Given the description of an element on the screen output the (x, y) to click on. 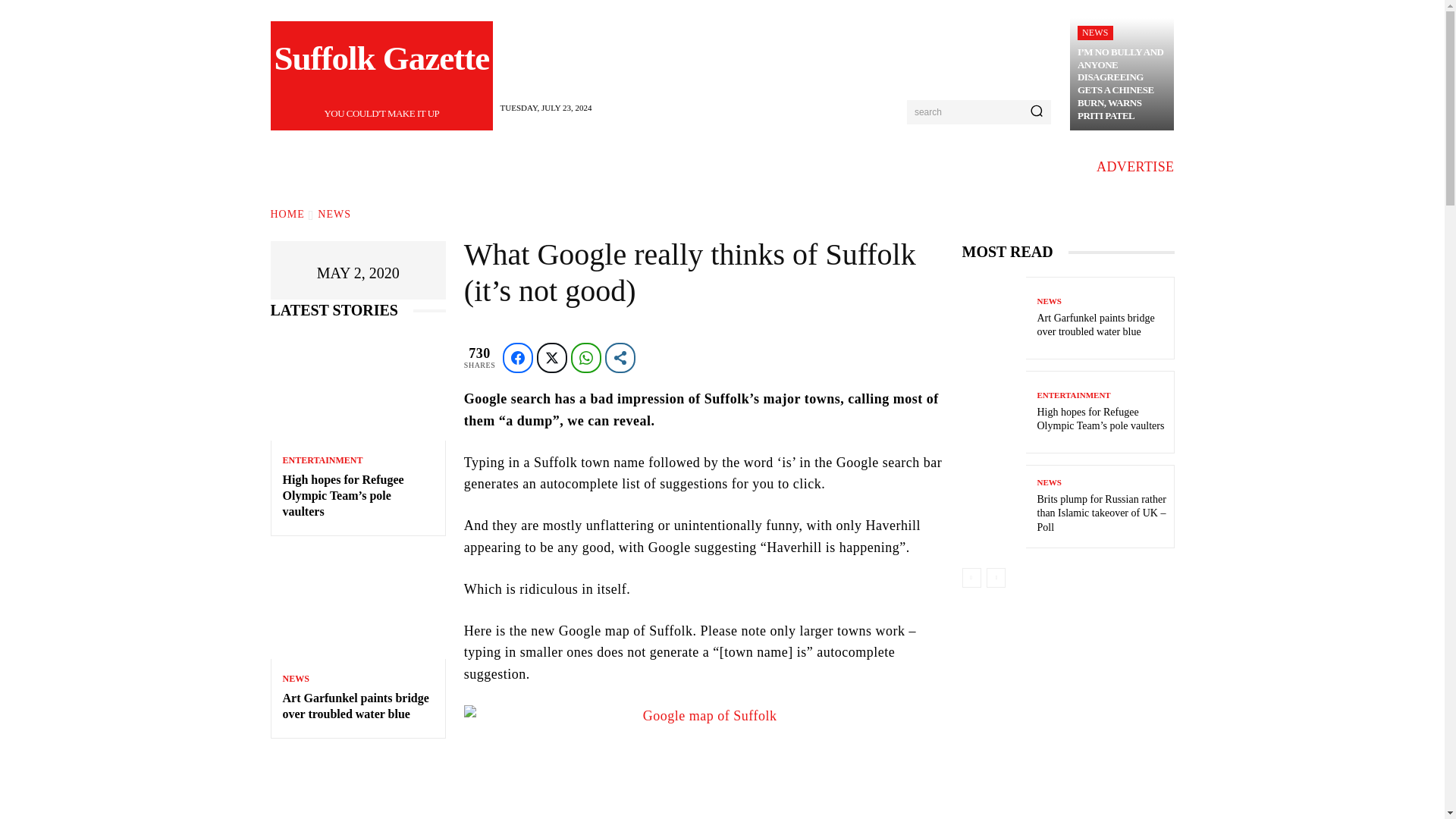
View all posts in News (333, 214)
Art Garfunkel paints bridge over troubled water blue (382, 76)
NEWS (357, 607)
ADVERTISE (1095, 32)
Art Garfunkel paints bridge over troubled water blue (1135, 166)
HOME (355, 705)
